Given the description of an element on the screen output the (x, y) to click on. 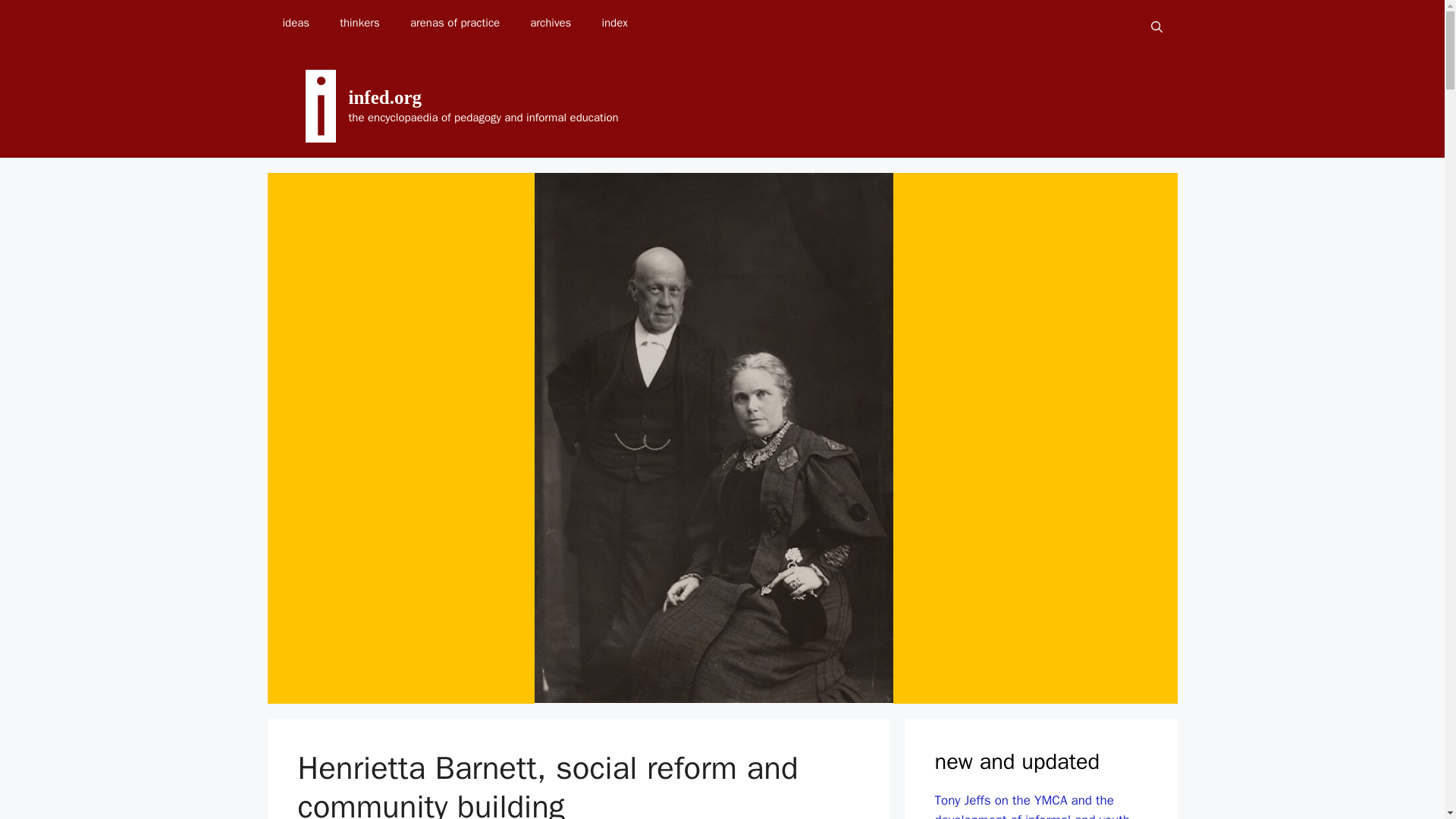
thinkers (359, 22)
ideas (295, 22)
index (614, 22)
arenas of practice (454, 22)
infed.org (385, 96)
archives (550, 22)
